Given the description of an element on the screen output the (x, y) to click on. 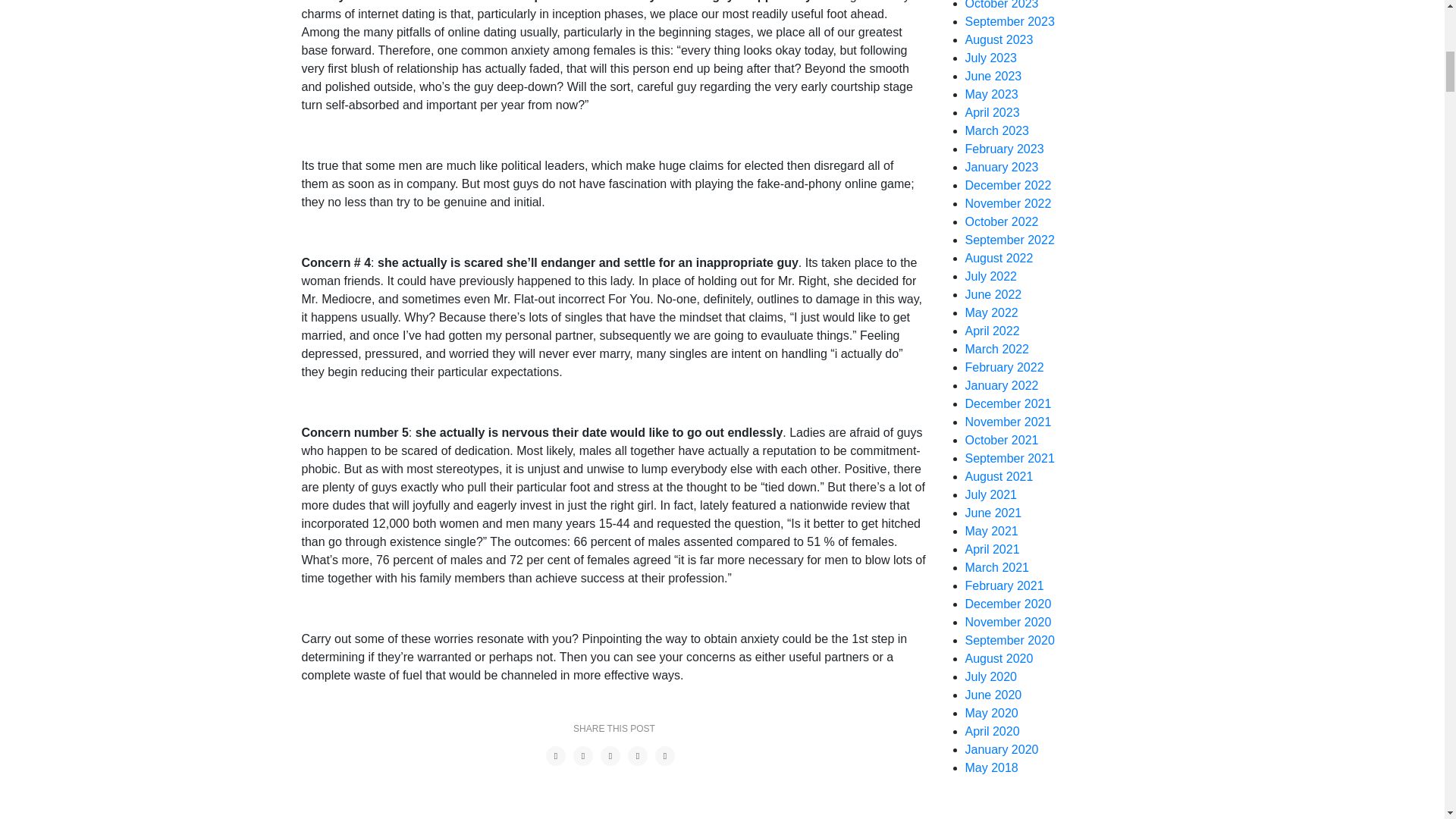
Pinterest (609, 755)
Twitter (582, 755)
LinkedIn (665, 755)
Facebook (556, 755)
